Given the description of an element on the screen output the (x, y) to click on. 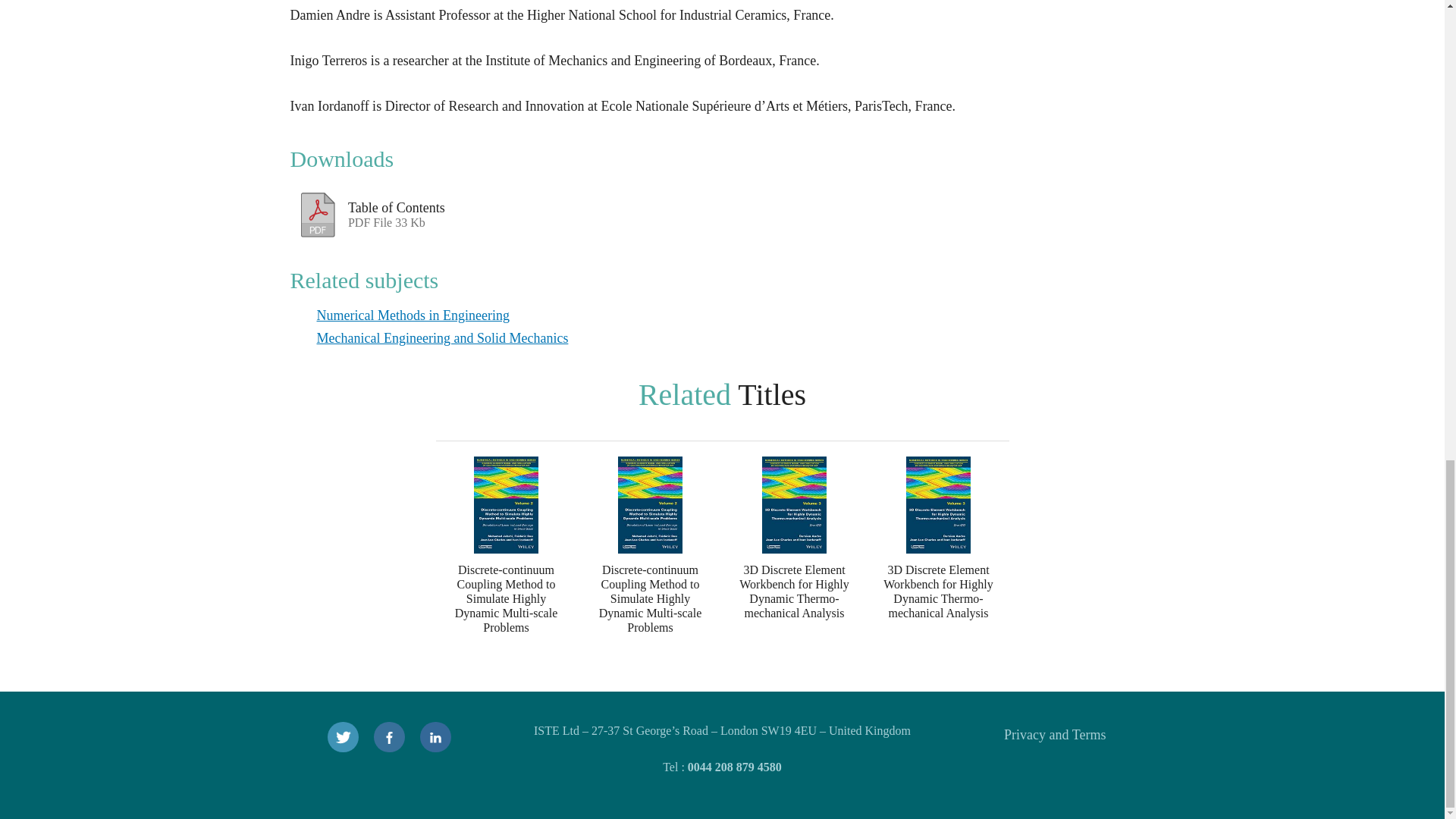
Download PDF file (318, 210)
Numerical Methods in Engineering (499, 206)
Privacy and Terms (413, 314)
Mechanical Engineering and Solid Mechanics (1054, 734)
